Given the description of an element on the screen output the (x, y) to click on. 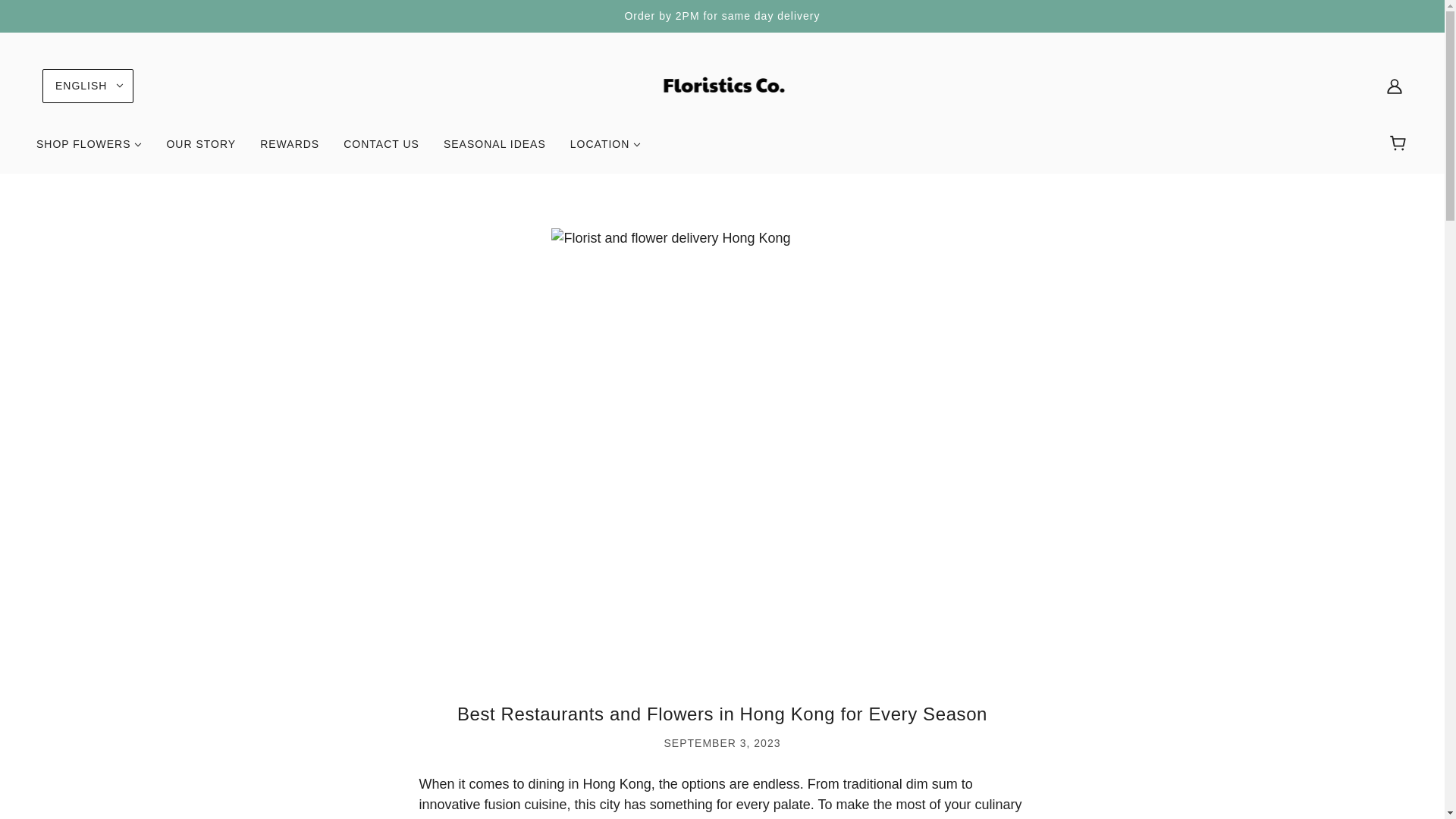
LOCATION (604, 149)
SEASONAL IDEAS (493, 149)
Floristics Co. (721, 84)
OUR STORY (200, 149)
CONTACT US (380, 149)
REWARDS (289, 149)
SHOP FLOWERS (89, 149)
